Given the description of an element on the screen output the (x, y) to click on. 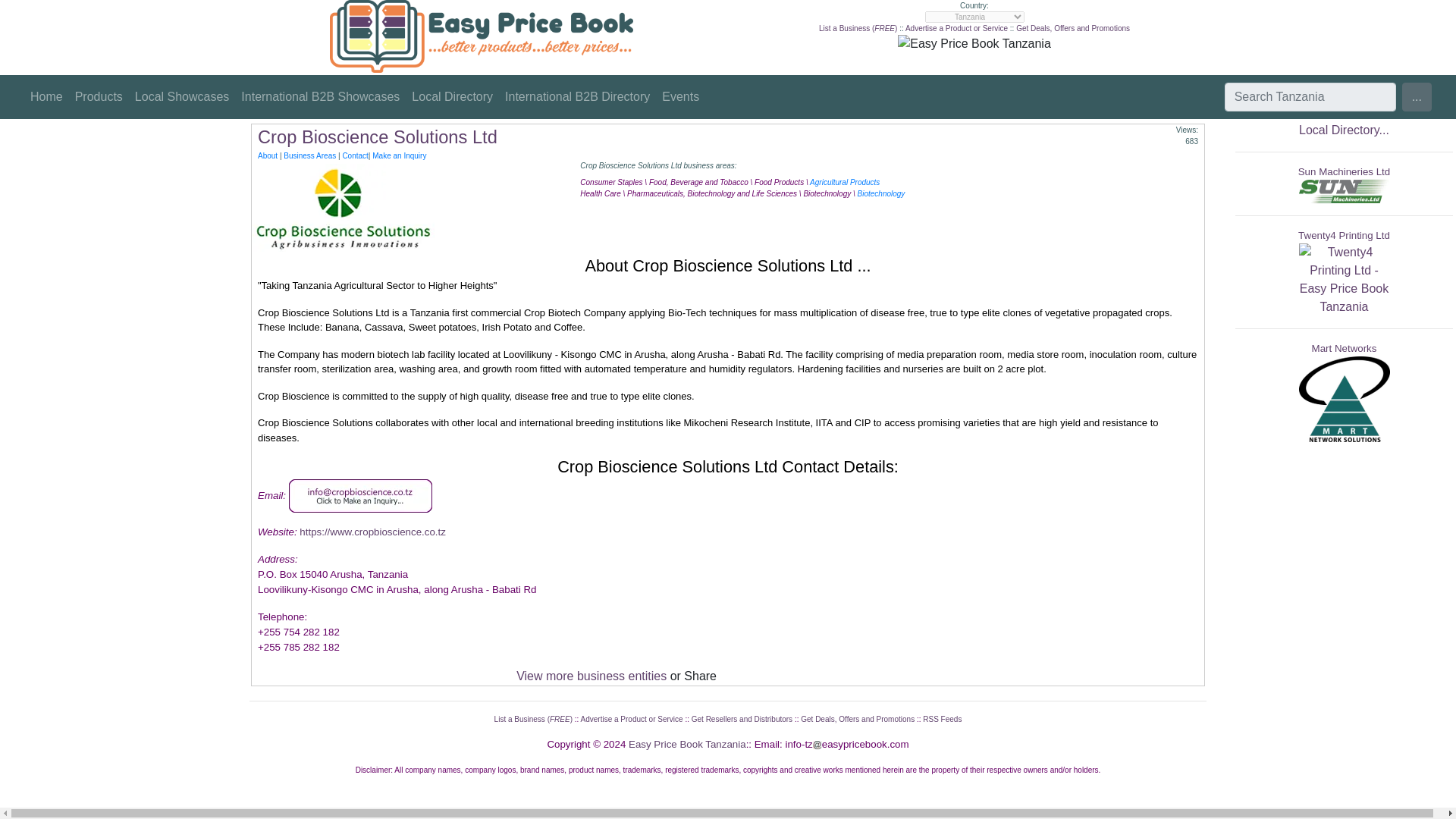
International B2B Showcases (320, 96)
View more business entities (591, 675)
Advertise a Product or Service (956, 28)
Sun Machineries Ltd (1344, 171)
Local Directory (452, 96)
Advertise a Product or Service (631, 718)
Mart Networks (1344, 348)
Click for Crop Bioscience Solutions Ltd business areas (309, 155)
Easy Price Book Tanzania (686, 744)
Local Directory... (1343, 129)
Get Resellers and Distributors (741, 718)
Business Areas (309, 155)
Click for more details on Twenty4 Printing Ltd (1343, 278)
